Given the description of an element on the screen output the (x, y) to click on. 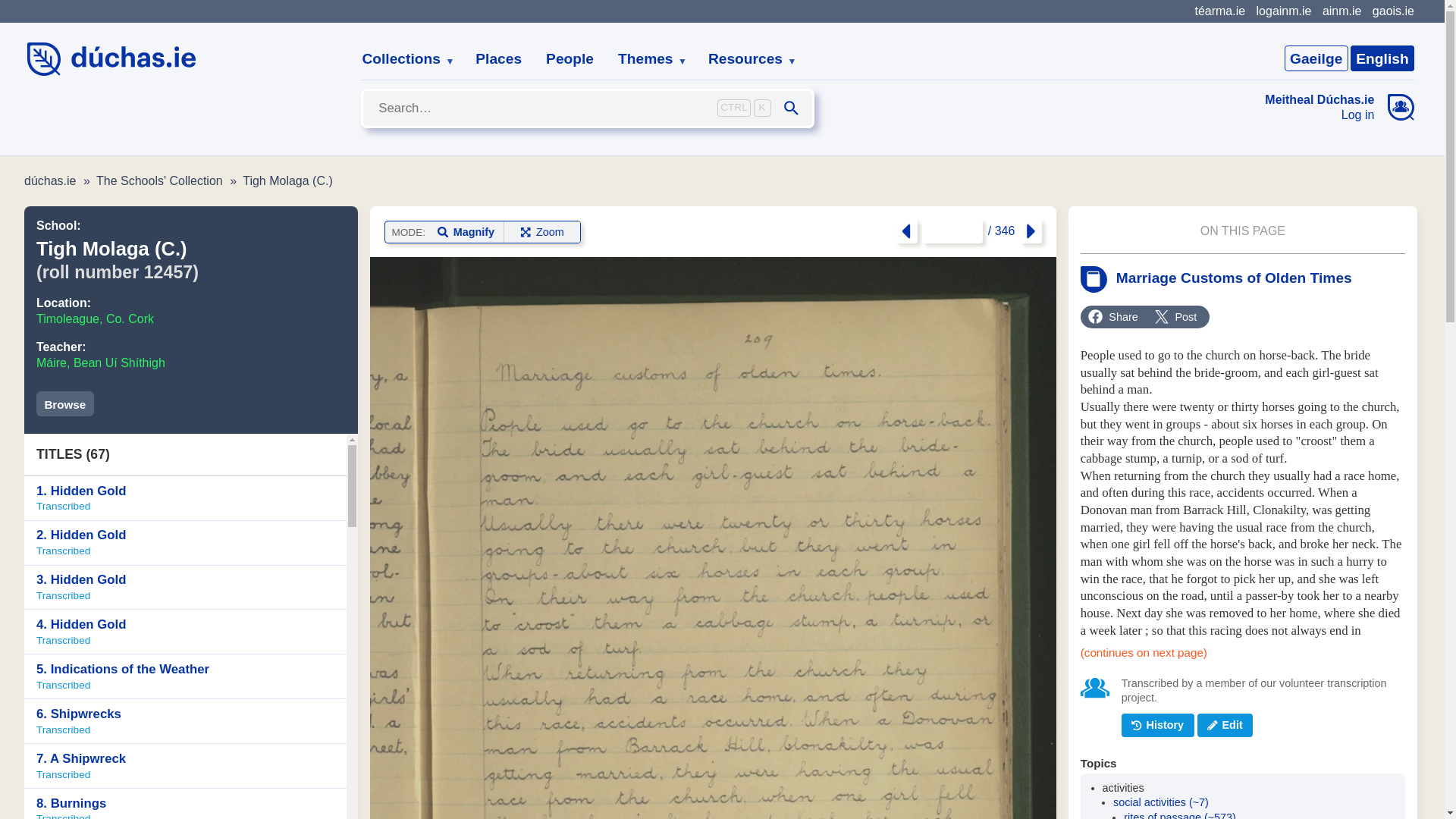
Browse (65, 403)
Log in (185, 497)
Timoleague, Co. Cork (1319, 114)
gaois.ie (95, 318)
ainm.ie (1393, 11)
Resources (1341, 11)
logainm.ie (745, 59)
The Schools' Collection (1283, 11)
Collections (159, 180)
Themes (401, 59)
Gaeilge (646, 59)
Places (185, 542)
English (1316, 58)
